Given the description of an element on the screen output the (x, y) to click on. 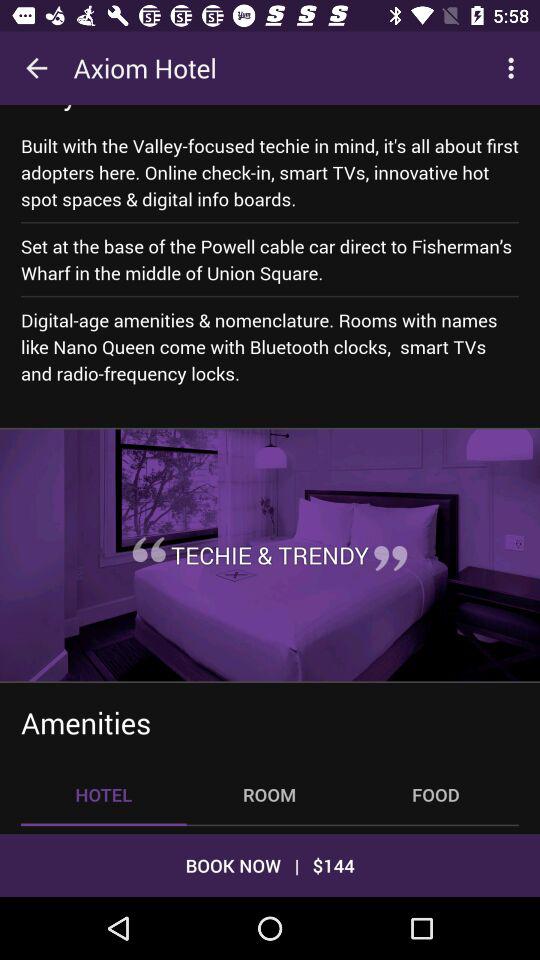
turn on icon to the right of room (435, 794)
